Given the description of an element on the screen output the (x, y) to click on. 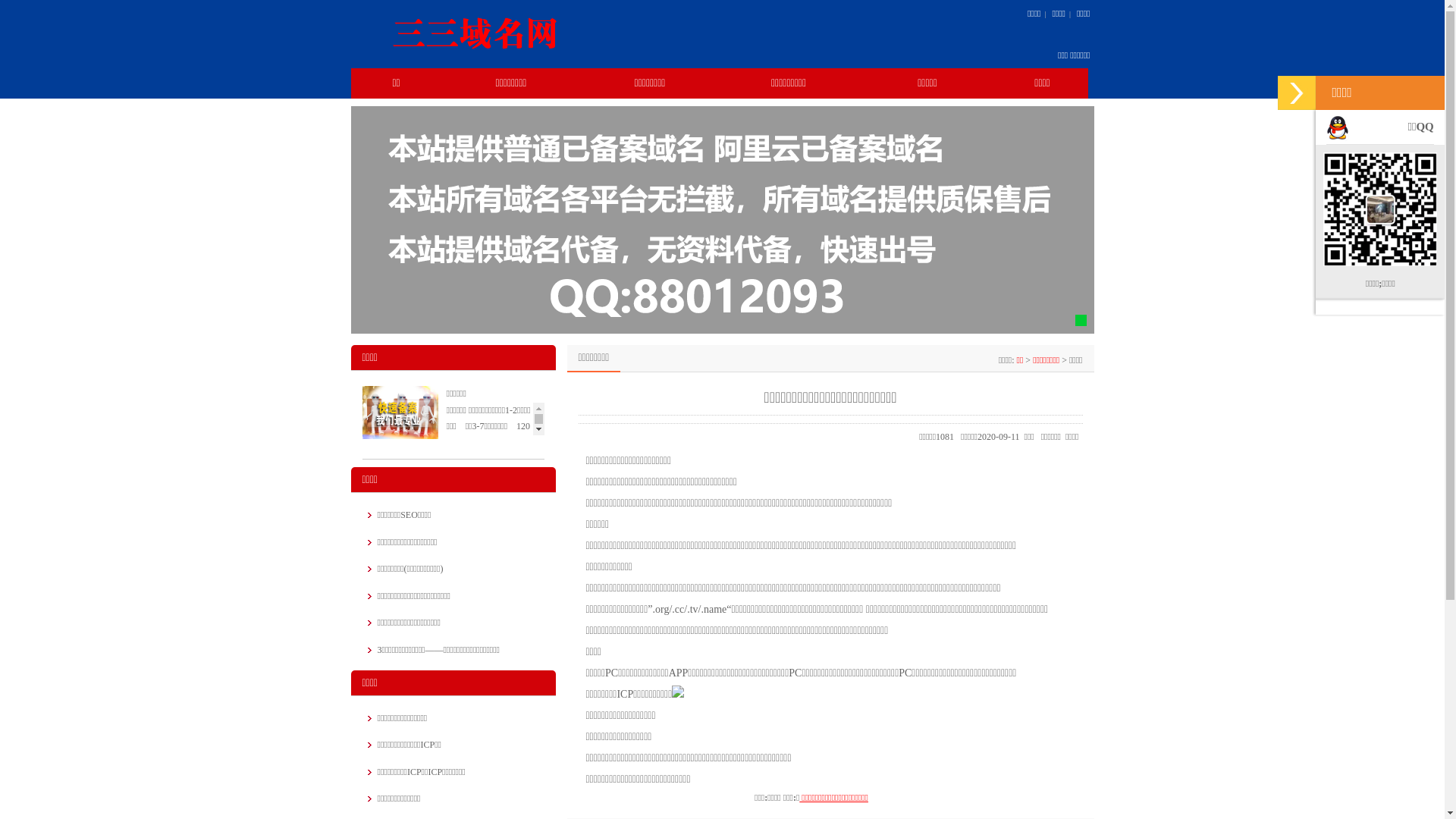
1 Element type: text (1080, 320)
